Given the description of an element on the screen output the (x, y) to click on. 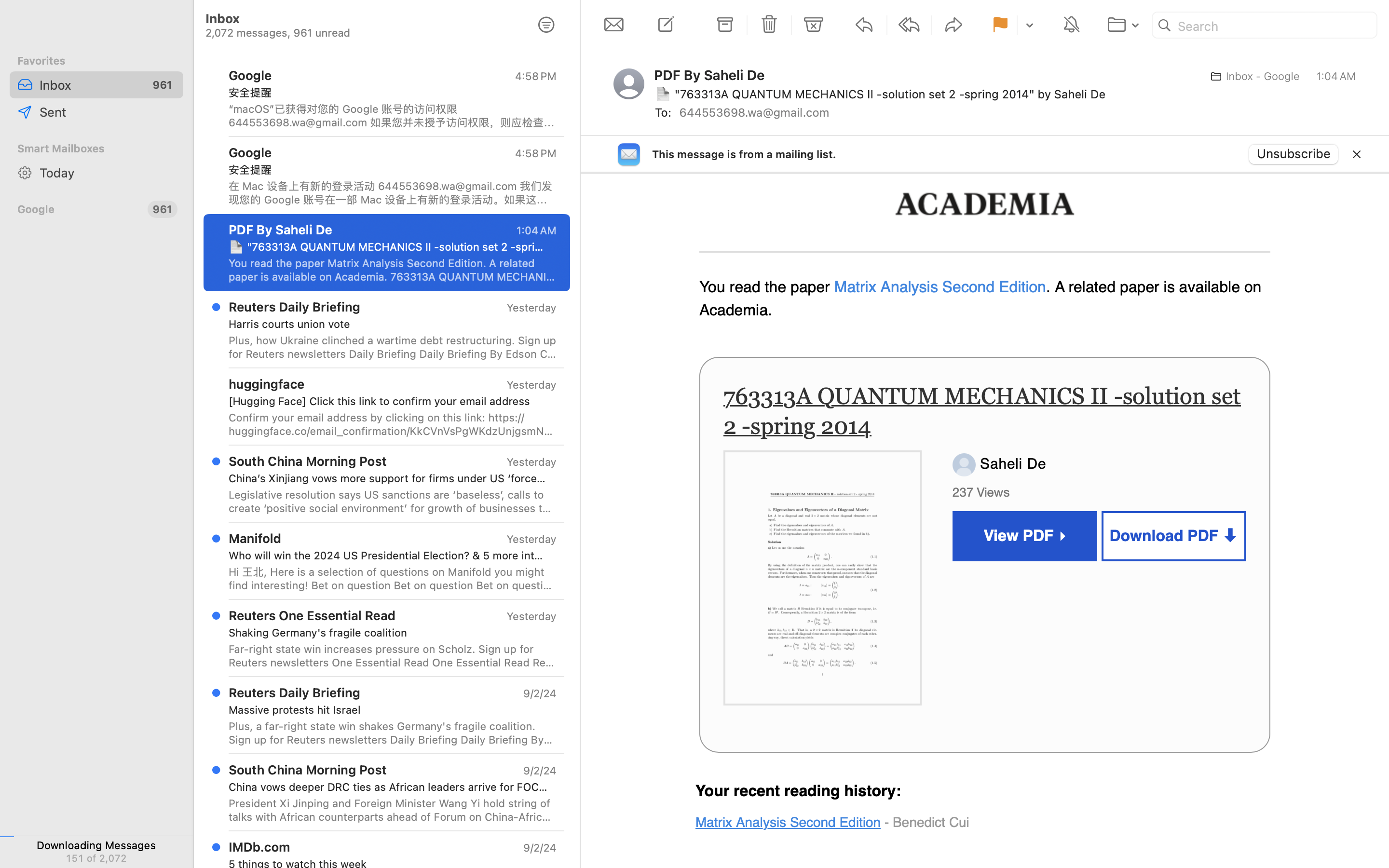
China vows deeper DRC ties as African leaders arrive for FOCAC meetings Element type: AXStaticText (388, 786)
“macOS”已获得对您的 Google 账号的访问权限 644553698.wa@gmail.com 如果您并未授予访问权限，则应检查此活动，并确保您的账号安全。 查看活动 您也可以访问以下网址查看安全性活动： https://myaccount.google.com/notifications 我们向您发送这封电子邮件，目的是让您了解关于您的 Google 账号和服务的重大变化。 © 2024 Google LLC, 1600 Amphitheatre Parkway, Mountain View, CA 94043, USA Element type: AXStaticText (392, 115)
Shaking Germany's fragile coalition Element type: AXStaticText (388, 632)
Far-right state win increases pressure on Scholz. Sign up for Reuters newsletters One Essential Read One Essential Read Recommended by Edson Caldas, Newsletter Editor Pressure mounts on Scholz Right-wing Alternative for Germany top candidate Bjoern Hoecke on the day of the Thuringia state election. REUTERS/Wolfgang Rattay The Alternative for Germany is on track to become the first far-right party to win a regional election in Germany since World War Two, dealing a blow to parties in Chancellor Olaf Scholz's government. The results are likely to aggravate instability in an already fractious ruling coalition, Chief Correspondent Sarah Marsh reports. The German government's faltering authority could also complicate European policy when the bloc's other major power France is still struggling to form a government. Read the full article Sponsors are not involved in the creation of newsletters or other Reuters news content. Advertise in this newsletter or on Reuters.com Reuters One Essential R Element type: AXStaticText (392, 655)
1:04 AM Element type: AXStaticText (1336, 75)
